Given the description of an element on the screen output the (x, y) to click on. 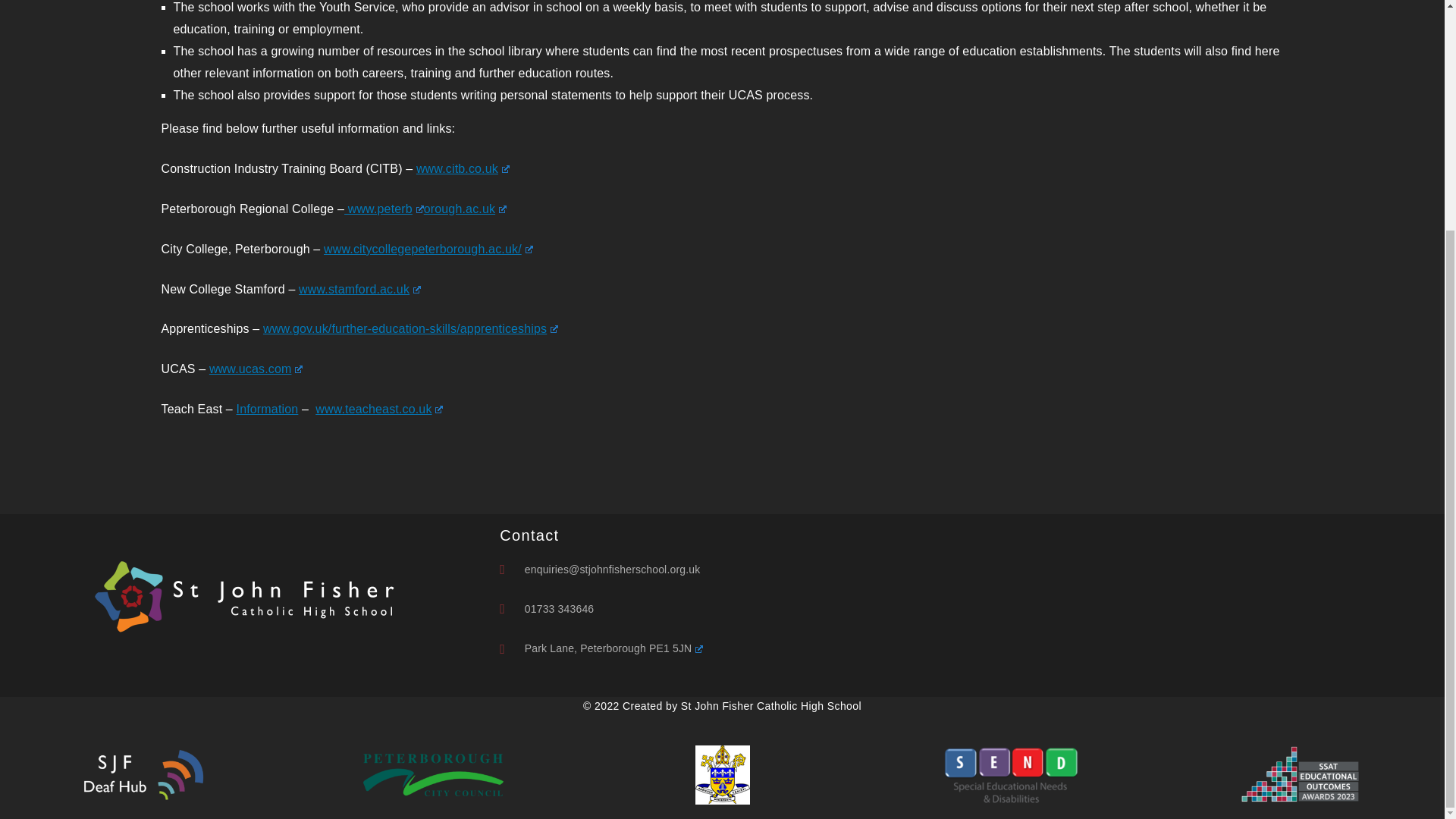
Park Ln, Peterborough PE1 5JN (1109, 605)
